Given the description of an element on the screen output the (x, y) to click on. 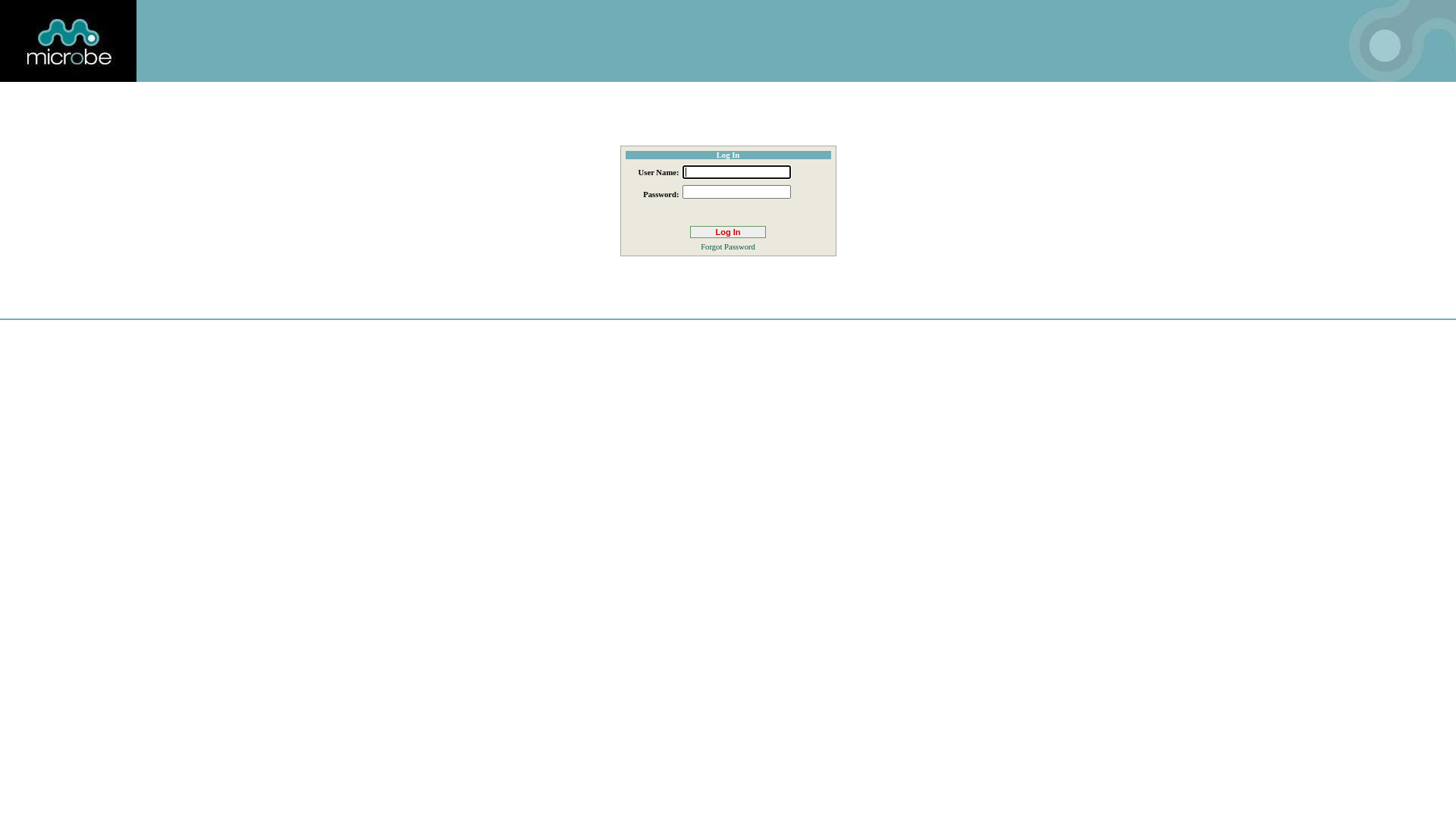
Log In Element type: text (727, 231)
Forgot Password Element type: text (727, 246)
